Given the description of an element on the screen output the (x, y) to click on. 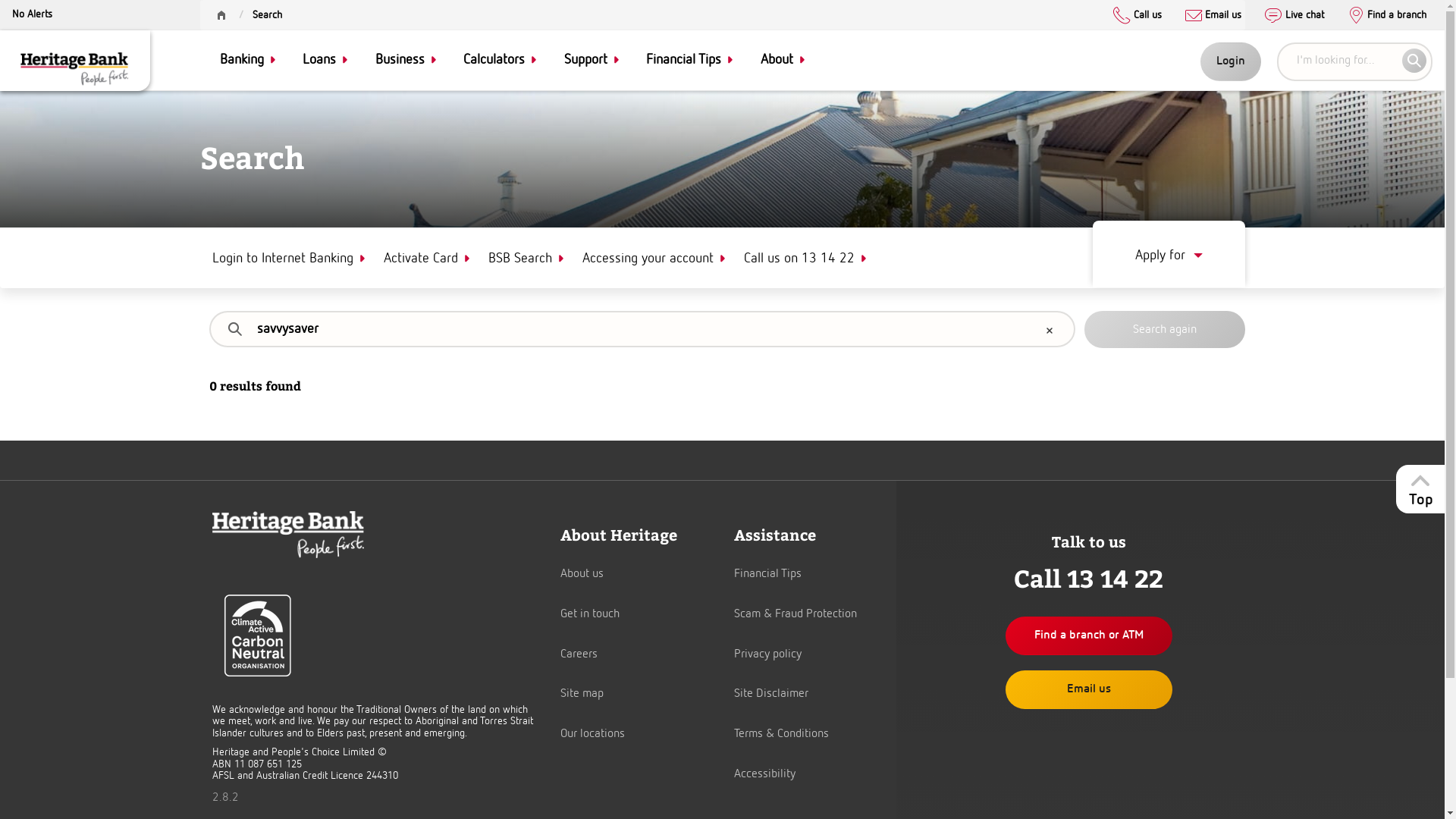
BSB Search Element type: text (523, 258)
Get in touch Element type: text (589, 614)
Search Element type: text (266, 14)
Accessibility Element type: text (764, 774)
Email us Element type: text (1212, 17)
Search again Element type: text (1164, 329)
Login to Internet Banking Element type: text (285, 258)
Call us on 13 14 22 Element type: text (801, 258)
About us Element type: text (581, 573)
Site map Element type: text (581, 693)
Find a branch or ATM Element type: text (1088, 635)
Scam & Fraud Protection Element type: text (795, 614)
Find a branch Element type: text (1386, 17)
Financial Tips Element type: text (767, 573)
Search Element type: hover (1414, 60)
Our locations Element type: text (592, 734)
Top Element type: text (1420, 488)
Activate Card Element type: text (423, 258)
Call us Element type: text (1136, 17)
Alert Button Element type: hover (31, 16)
Email us Element type: text (1088, 689)
Search Element type: hover (1164, 329)
Live chat Element type: text (1293, 17)
Terms & Conditions Element type: text (781, 734)
Accessing your account Element type: text (650, 258)
Site Disclaimer Element type: text (771, 693)
Privacy policy Element type: text (767, 654)
Call 13 14 22 Element type: text (1088, 588)
Careers Element type: text (578, 654)
Apply for Element type: text (1168, 253)
Login Element type: text (1230, 61)
